Given the description of an element on the screen output the (x, y) to click on. 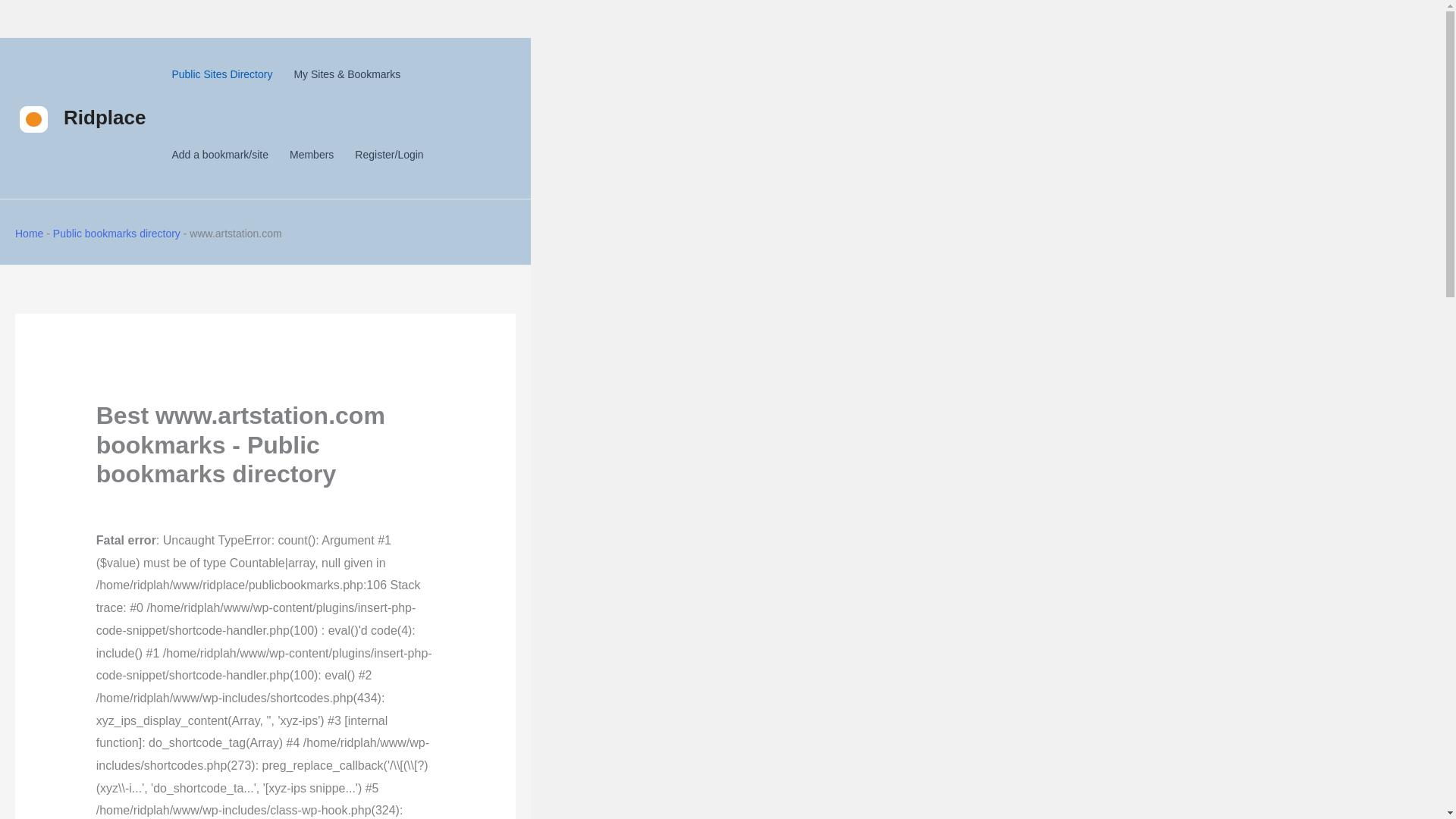
Ridplace (104, 117)
Members (311, 153)
Home (28, 233)
Public bookmarks directory (116, 233)
Public Sites Directory (221, 73)
